Given the description of an element on the screen output the (x, y) to click on. 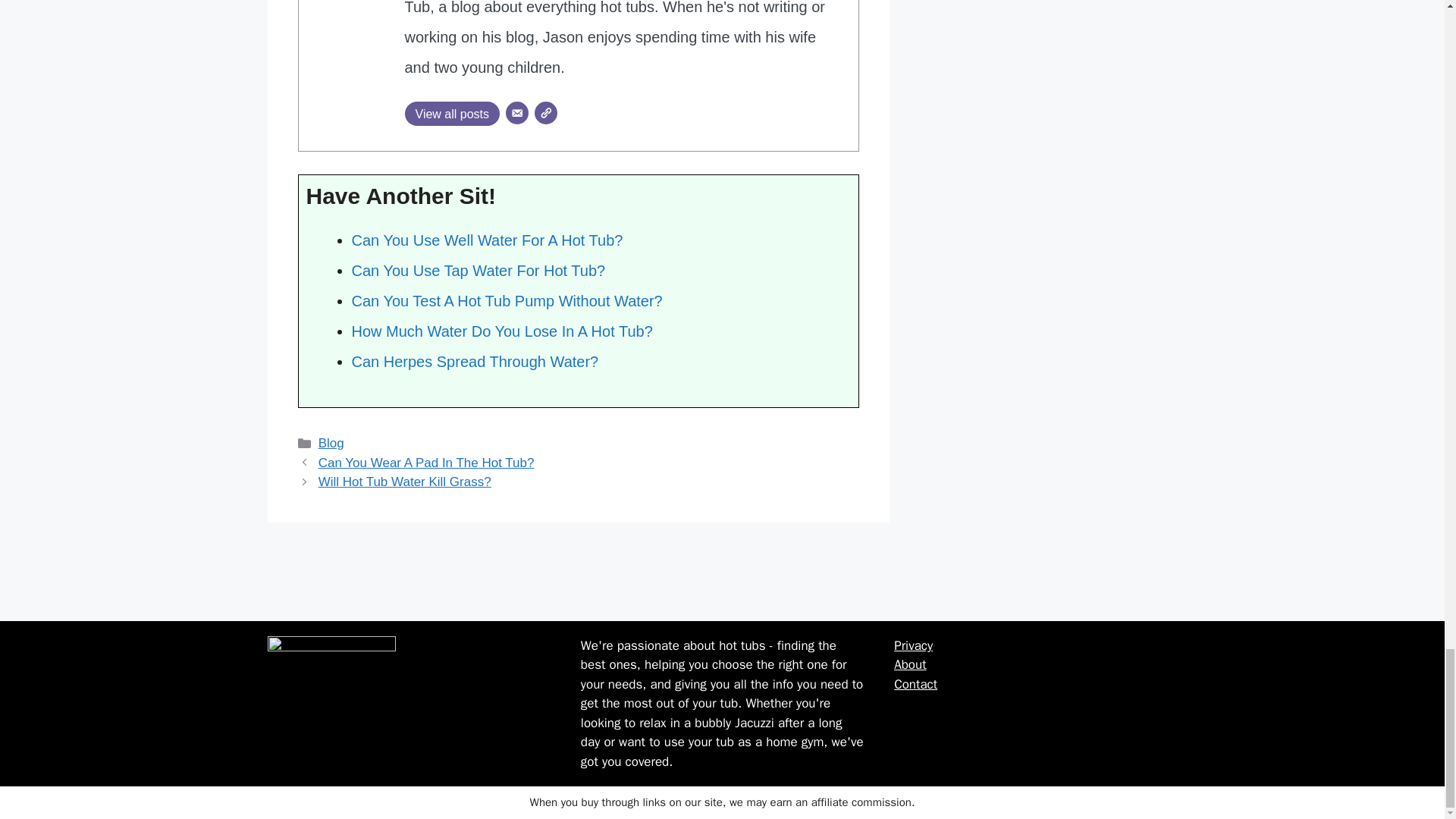
View all posts (452, 113)
Can You Use Well Water For A Hot Tub? (487, 239)
Can You Test A Hot Tub Pump Without Water? (507, 300)
Blog (330, 442)
Contact (915, 684)
Can Herpes Spread Through Water? (475, 361)
How Much Water Do You Lose In A Hot Tub? (502, 330)
Can You Use Tap Water For Hot Tub? (478, 270)
About (909, 664)
Can You Wear A Pad In The Hot Tub? (426, 462)
Will Hot Tub Water Kill Grass? (405, 481)
Privacy (913, 645)
